Given the description of an element on the screen output the (x, y) to click on. 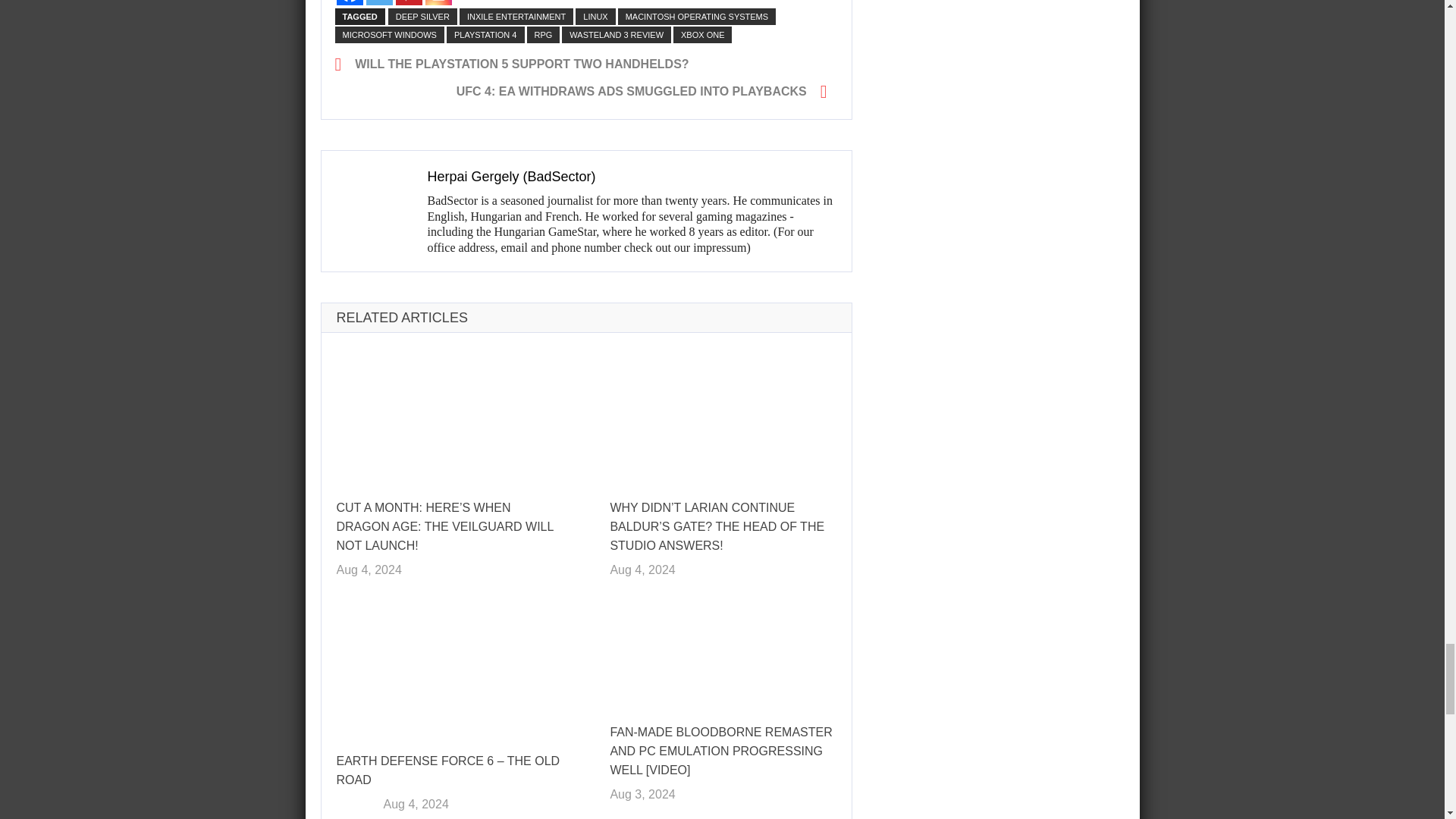
Instagram (438, 2)
Twitter (378, 2)
Pinterest (409, 2)
Facebook (349, 2)
